Given the description of an element on the screen output the (x, y) to click on. 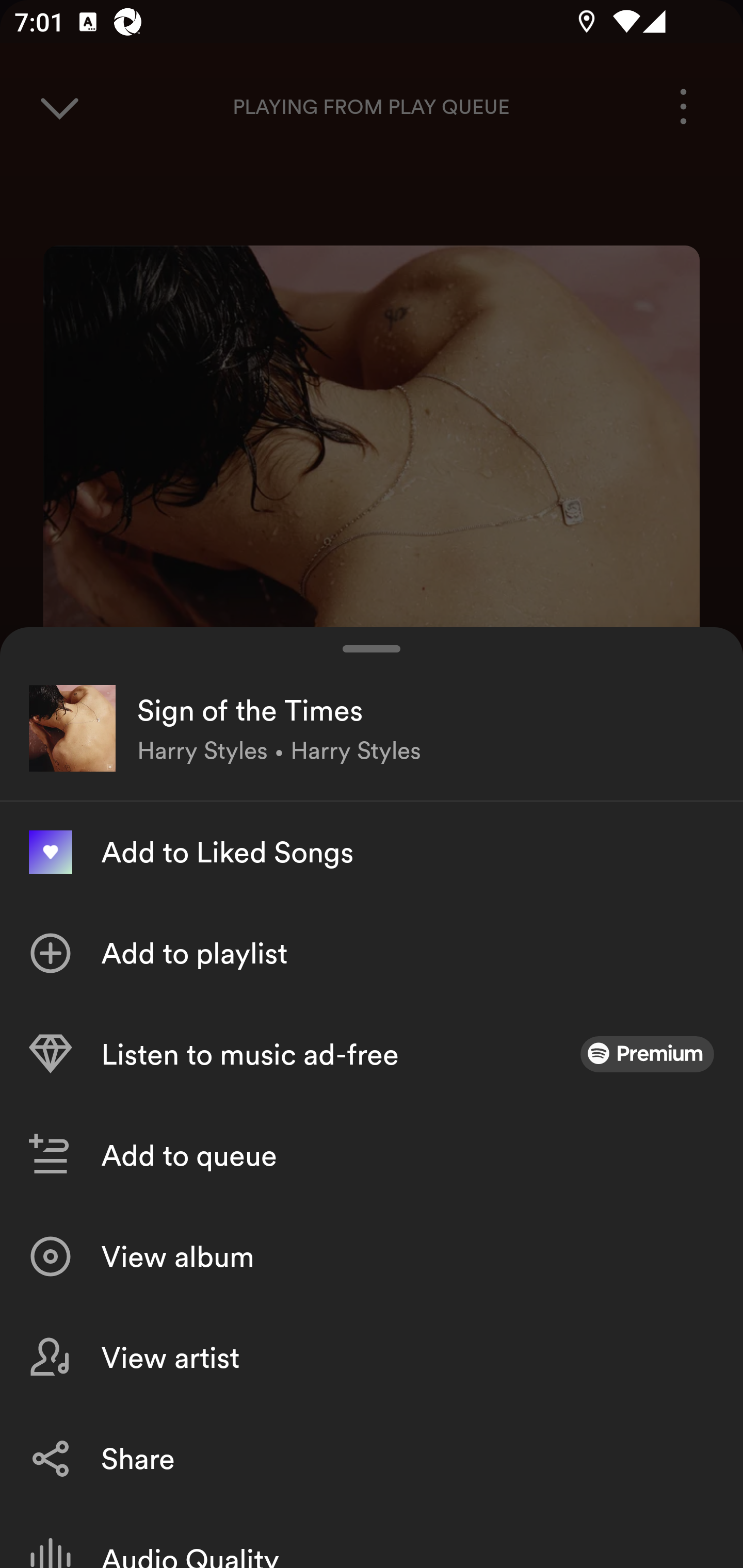
Add to Liked Songs (371, 852)
Add to playlist (371, 953)
Listen to music ad-free (371, 1054)
Add to queue (371, 1155)
View album (371, 1256)
View artist (371, 1357)
Share (371, 1458)
Audio Quality (371, 1538)
